Given the description of an element on the screen output the (x, y) to click on. 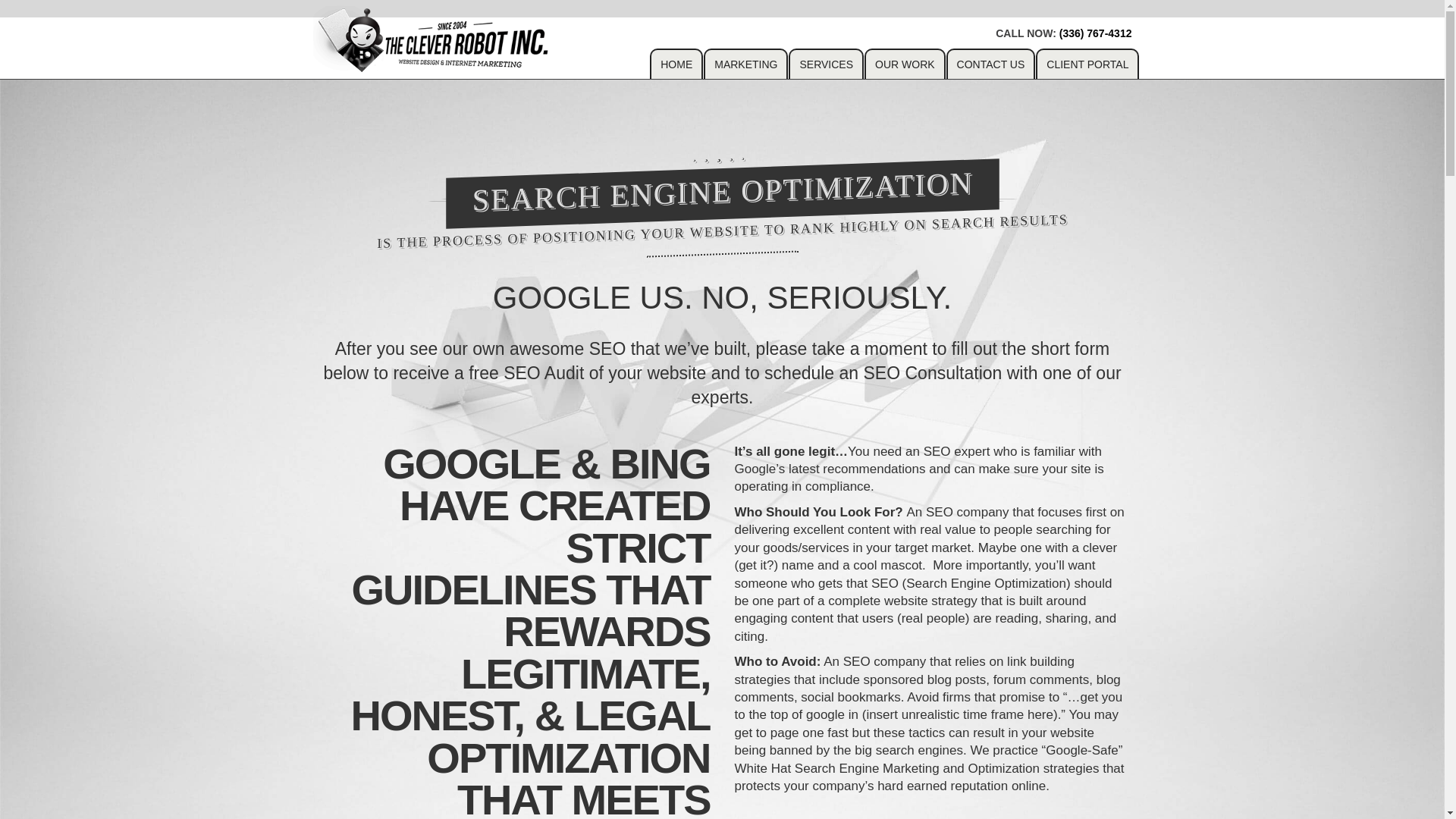
Website Design Winston Salem, NC (433, 39)
OUR WORK (904, 63)
CLIENT PORTAL (1086, 63)
MARKETING (745, 63)
SERVICES (826, 63)
CONTACT US (990, 63)
HOME (676, 63)
